Given the description of an element on the screen output the (x, y) to click on. 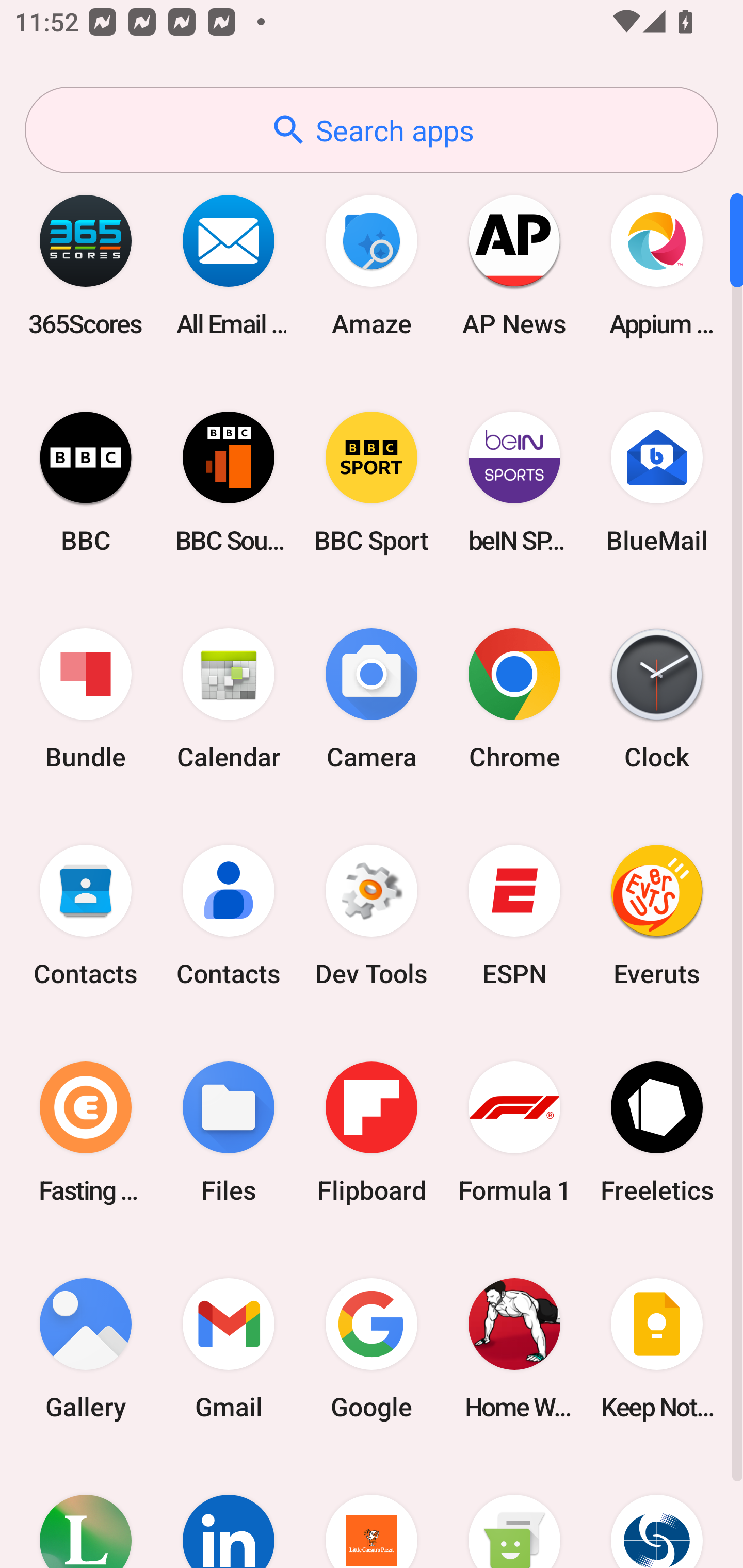
  Search apps (371, 130)
365Scores (85, 264)
All Email Connect (228, 264)
Amaze (371, 264)
AP News (514, 264)
Appium Settings (656, 264)
BBC (85, 482)
BBC Sounds (228, 482)
BBC Sport (371, 482)
beIN SPORTS (514, 482)
BlueMail (656, 482)
Bundle (85, 699)
Calendar (228, 699)
Camera (371, 699)
Chrome (514, 699)
Clock (656, 699)
Contacts (85, 915)
Contacts (228, 915)
Dev Tools (371, 915)
ESPN (514, 915)
Everuts (656, 915)
Fasting Coach (85, 1131)
Files (228, 1131)
Flipboard (371, 1131)
Formula 1 (514, 1131)
Freeletics (656, 1131)
Gallery (85, 1348)
Gmail (228, 1348)
Google (371, 1348)
Home Workout (514, 1348)
Keep Notes (656, 1348)
Lifesum (85, 1512)
LinkedIn (228, 1512)
Little Caesars Pizza (371, 1512)
Messaging (514, 1512)
MyObservatory (656, 1512)
